Given the description of an element on the screen output the (x, y) to click on. 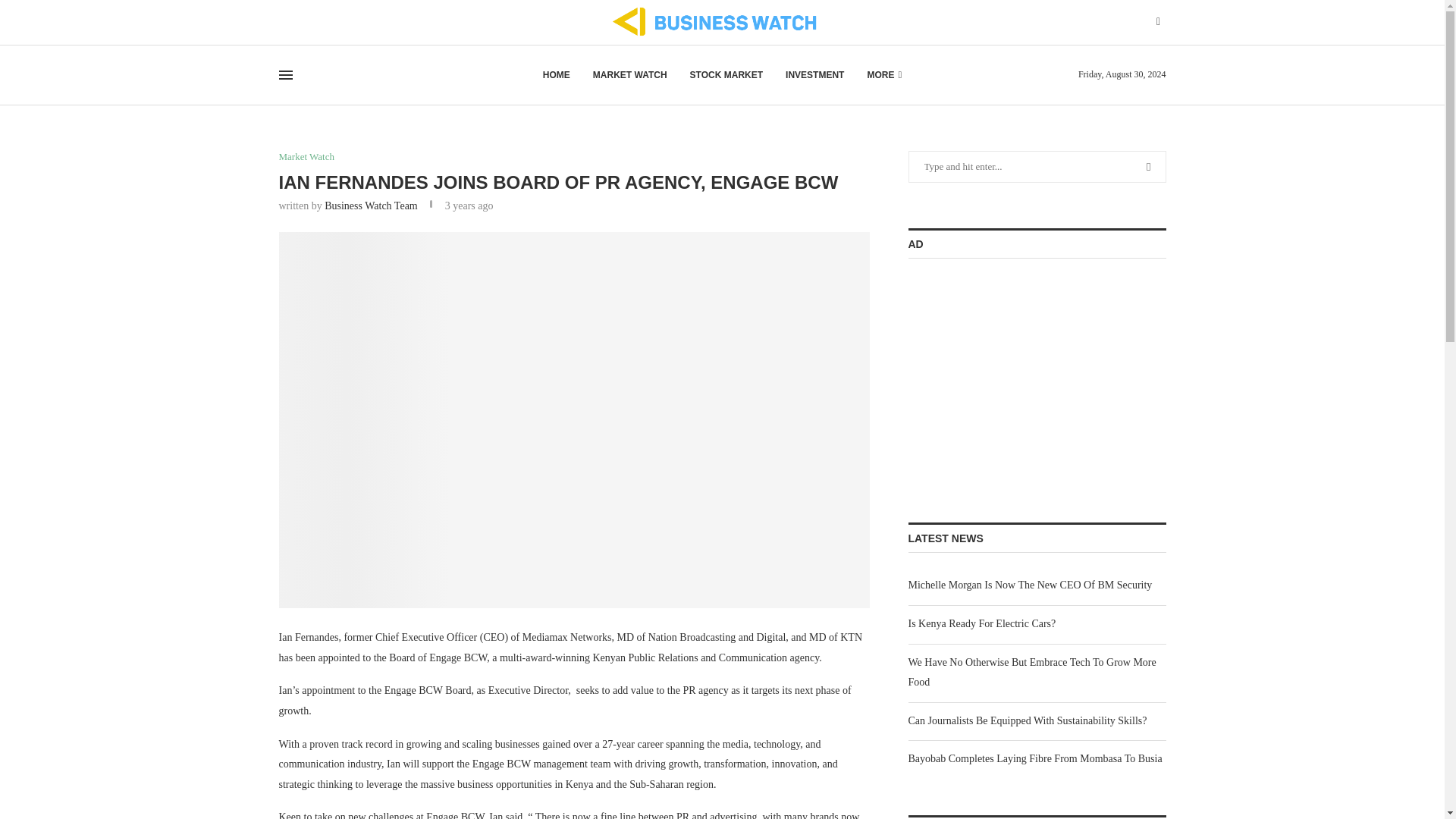
STOCK MARKET (726, 75)
MARKET WATCH (629, 75)
INVESTMENT (815, 75)
